Given the description of an element on the screen output the (x, y) to click on. 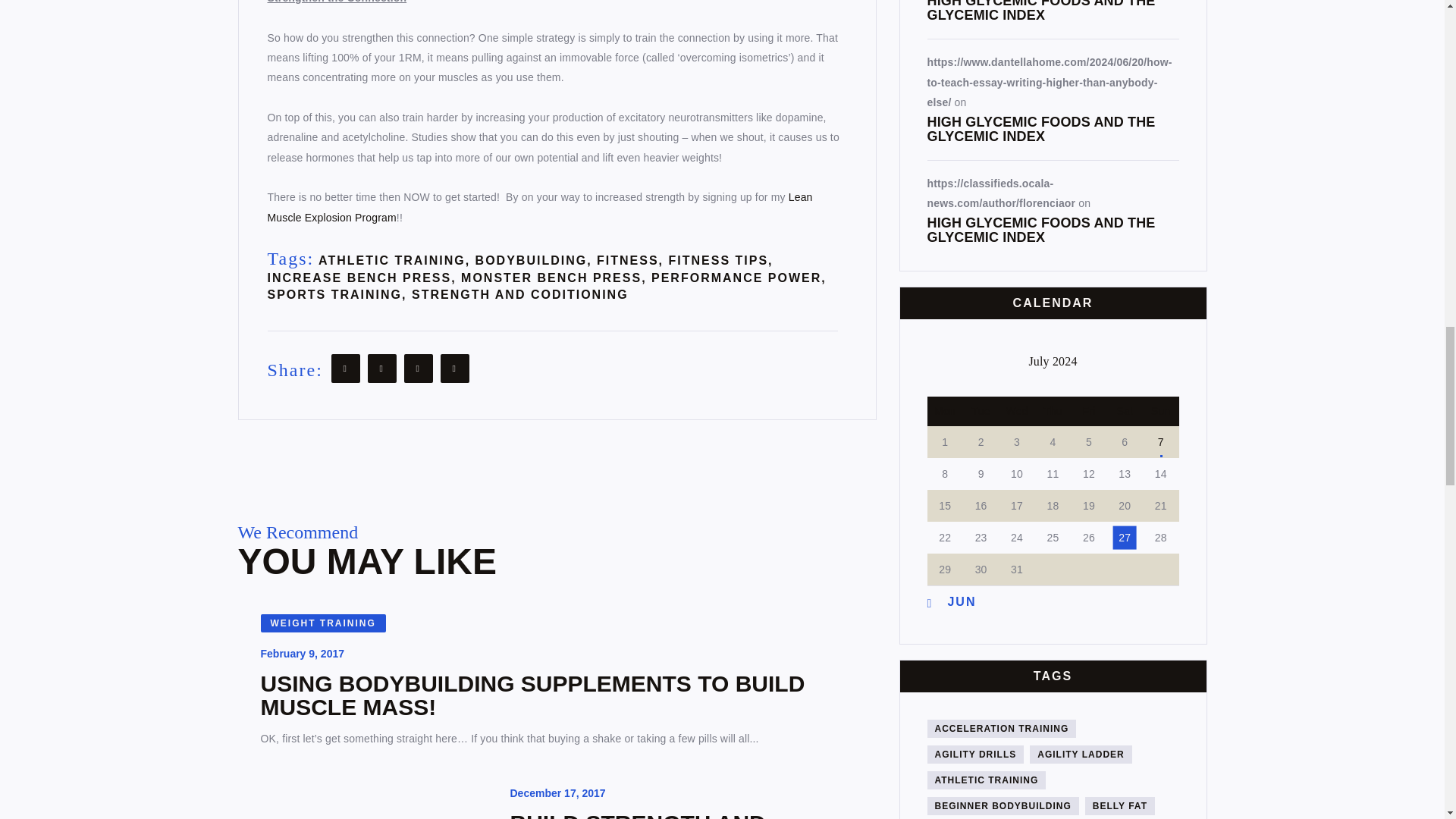
Saturday (1124, 410)
Tuesday (980, 410)
Wednesday (1015, 410)
Sunday (1159, 410)
Thursday (1052, 410)
Friday (1088, 410)
Monday (944, 410)
View all posts in Weight Training (322, 623)
